Given the description of an element on the screen output the (x, y) to click on. 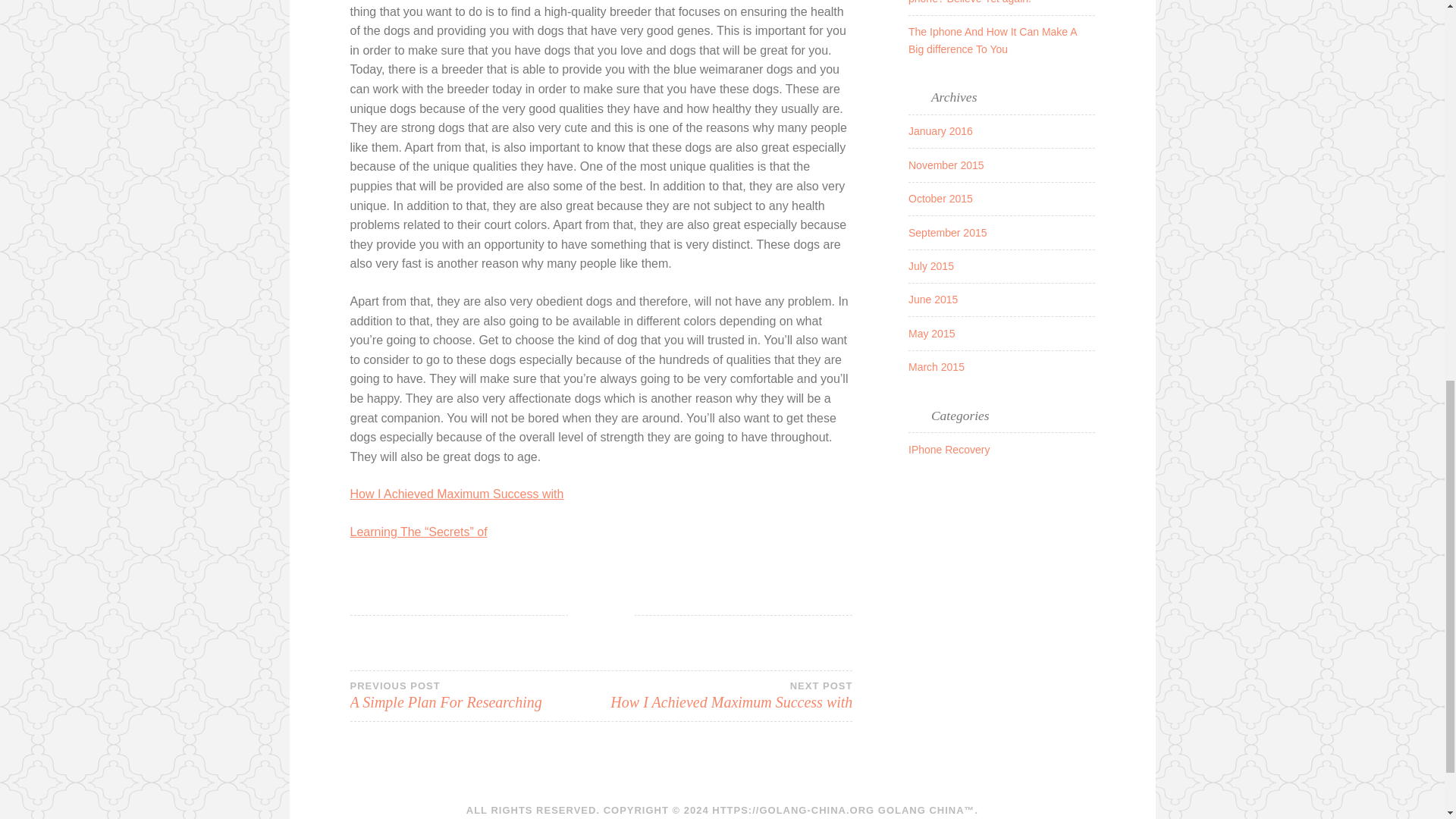
September 2015 (947, 232)
The Iphone And How It Can Make A Big difference To You (992, 39)
May 2015 (726, 695)
June 2015 (931, 333)
March 2015 (933, 299)
October 2015 (935, 367)
January 2016 (940, 198)
July 2015 (940, 131)
